Given the description of an element on the screen output the (x, y) to click on. 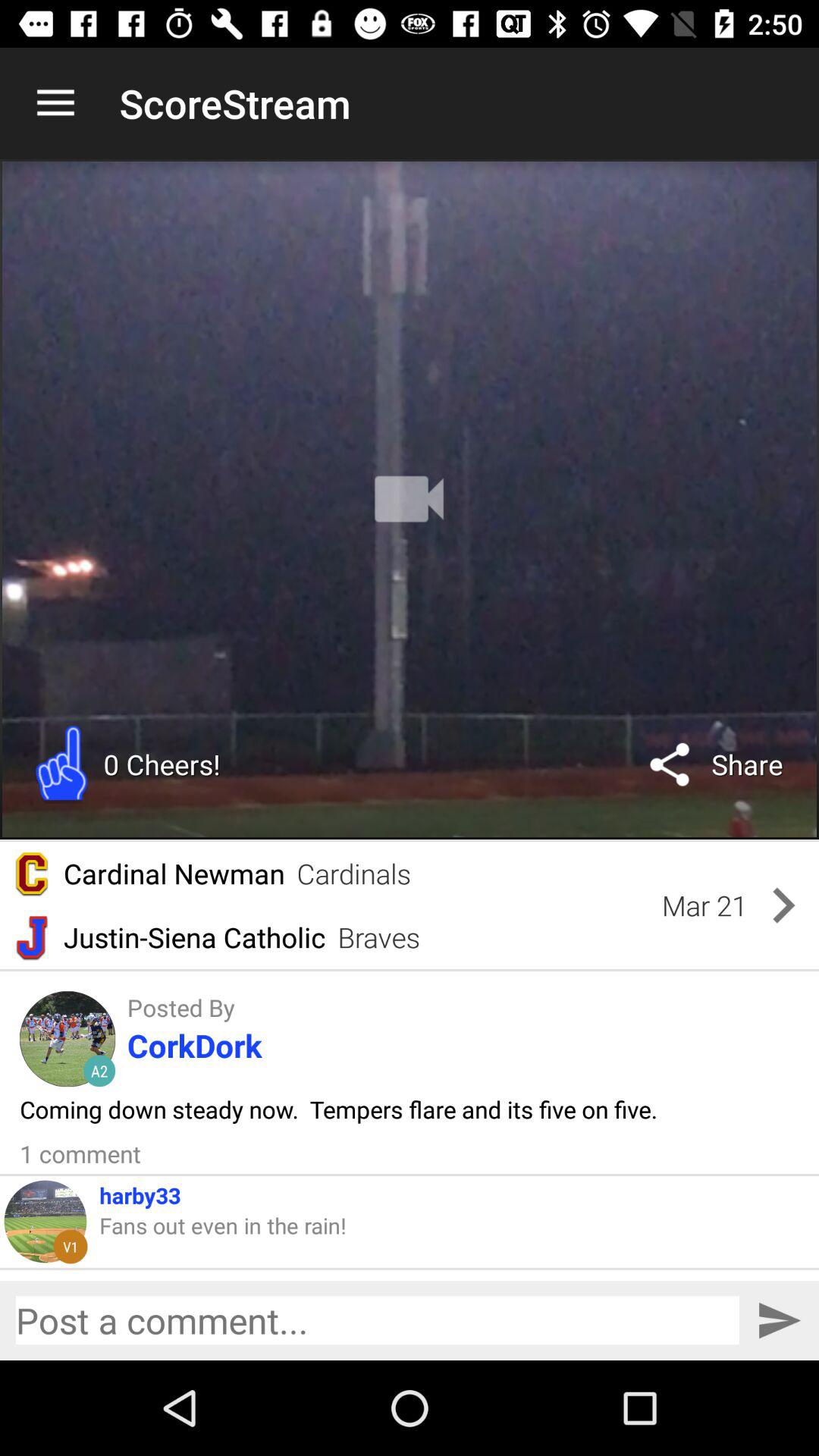
submit post to chat (779, 1320)
